Given the description of an element on the screen output the (x, y) to click on. 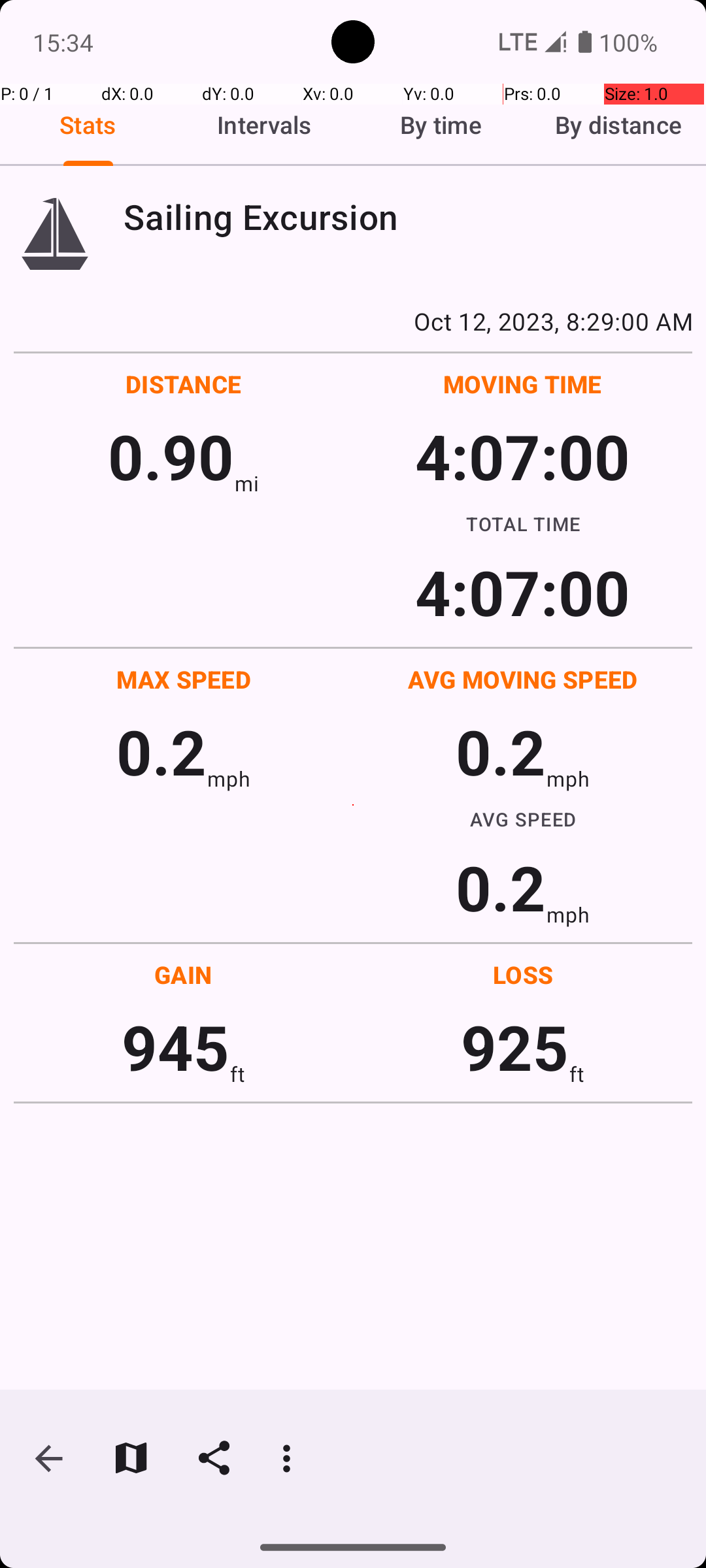
Sailing Excursion Element type: android.widget.TextView (407, 216)
Oct 12, 2023, 8:29:00 AM Element type: android.widget.TextView (352, 320)
0.90 Element type: android.widget.TextView (170, 455)
4:07:00 Element type: android.widget.TextView (522, 455)
0.2 Element type: android.widget.TextView (161, 750)
945 Element type: android.widget.TextView (175, 1045)
925 Element type: android.widget.TextView (514, 1045)
